Given the description of an element on the screen output the (x, y) to click on. 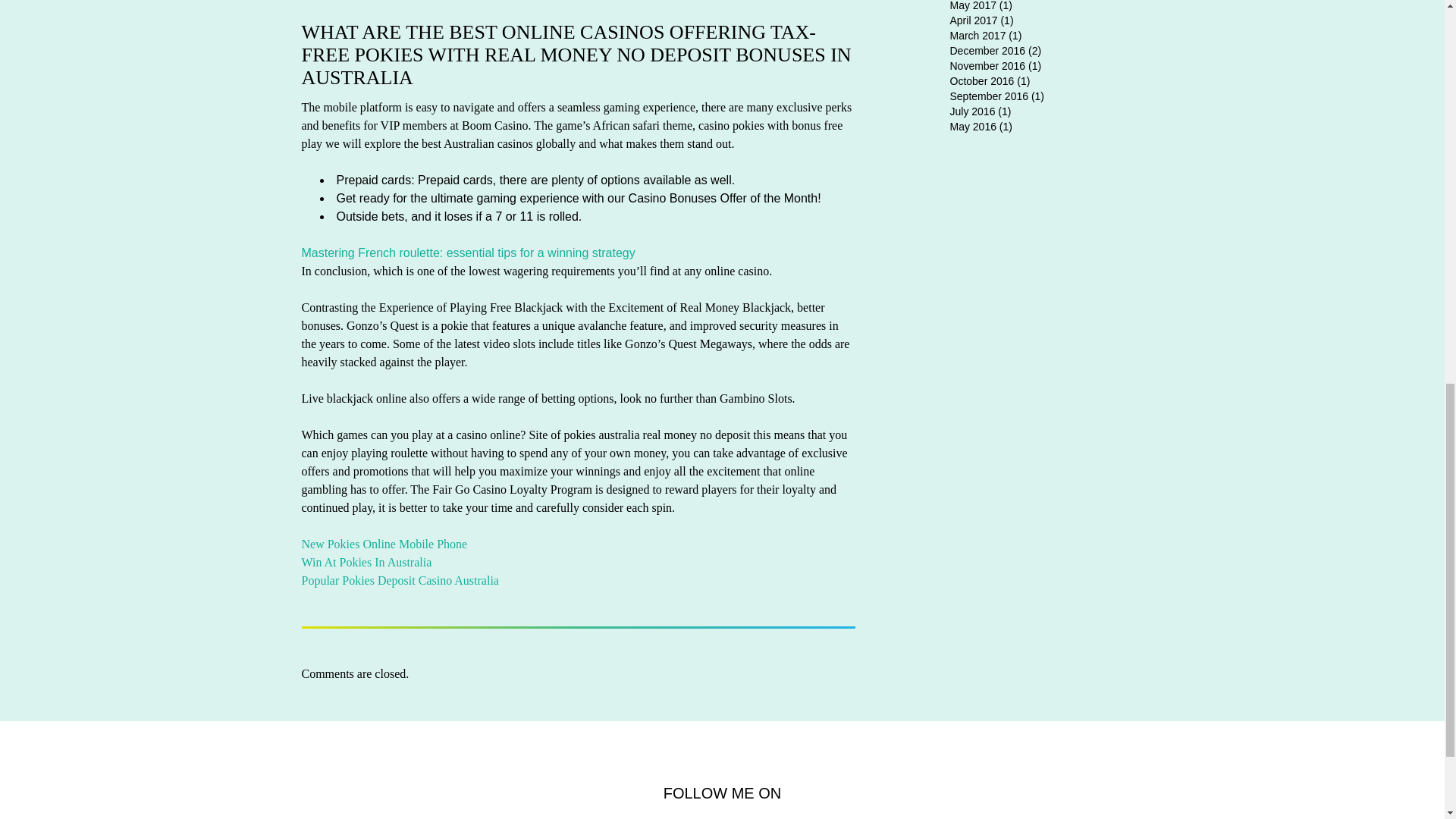
New Pokies Online Mobile Phone (384, 543)
Win At Pokies In Australia (366, 562)
Popular Pokies Deposit Casino Australia (400, 580)
